Given the description of an element on the screen output the (x, y) to click on. 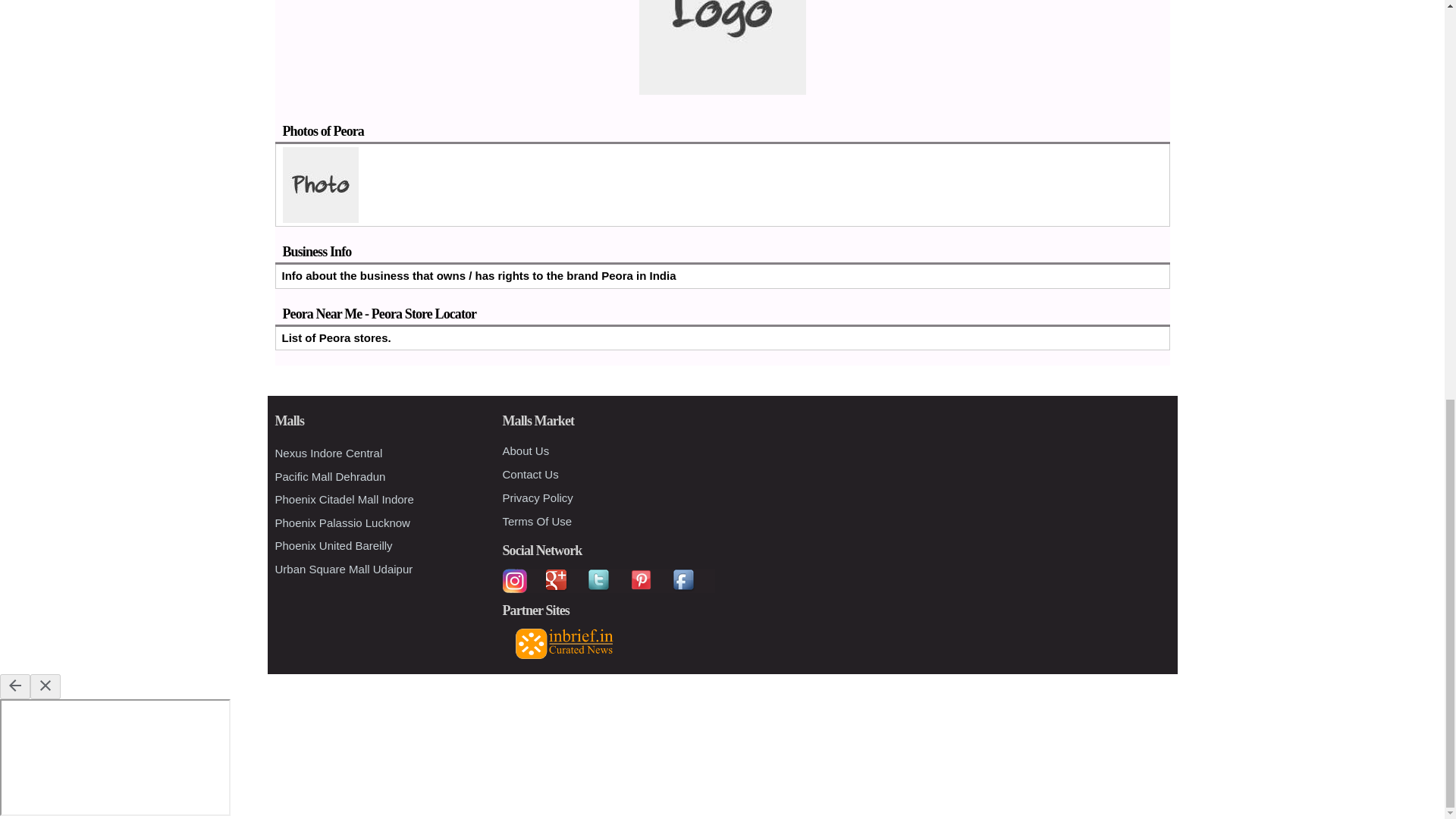
Contact Us (529, 473)
Urban Square Mall Udaipur (343, 567)
Phoenix United Bareilly (333, 545)
Phoenix Palassio Lucknow (342, 522)
Nexus Indore Central (328, 452)
Pacific Mall Dehradun (330, 475)
Phoenix Citadel Mall Indore (344, 499)
About Us (525, 450)
